Given the description of an element on the screen output the (x, y) to click on. 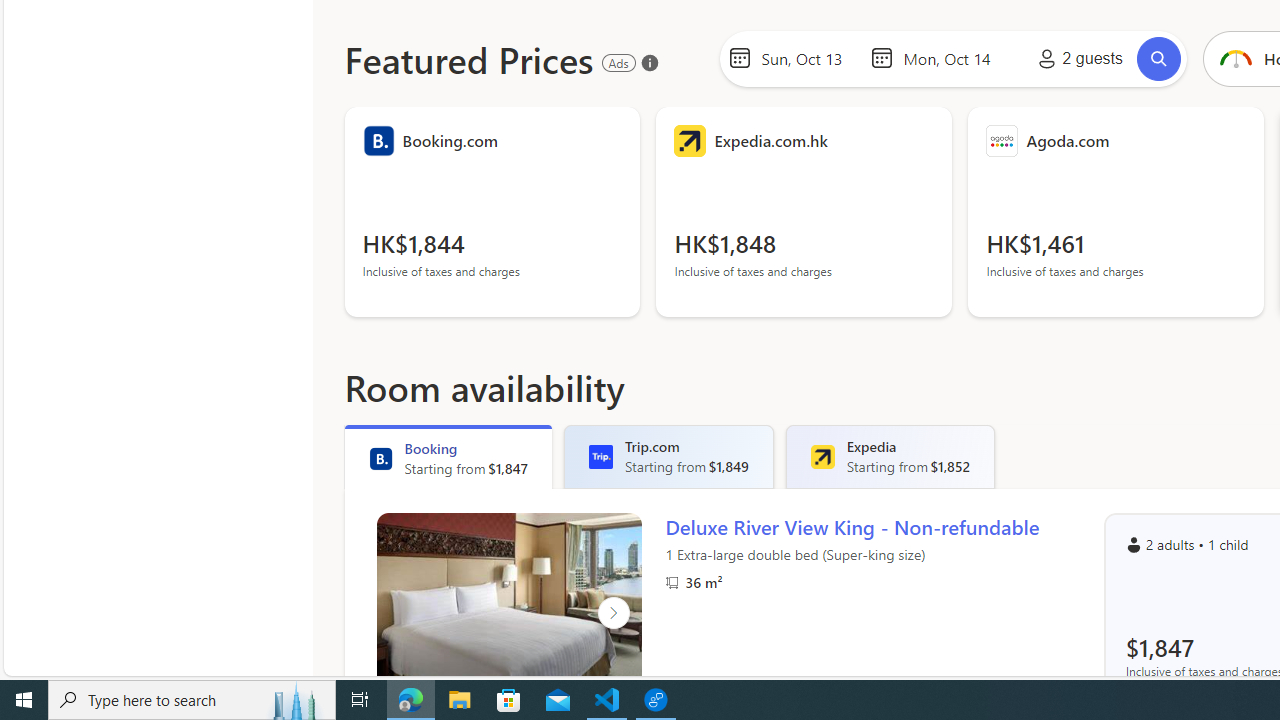
Hotel Price trend (1234, 58)
TripDotCom Trip.com Starting from $1,849 (669, 456)
2 guests (1076, 58)
